Given the description of an element on the screen output the (x, y) to click on. 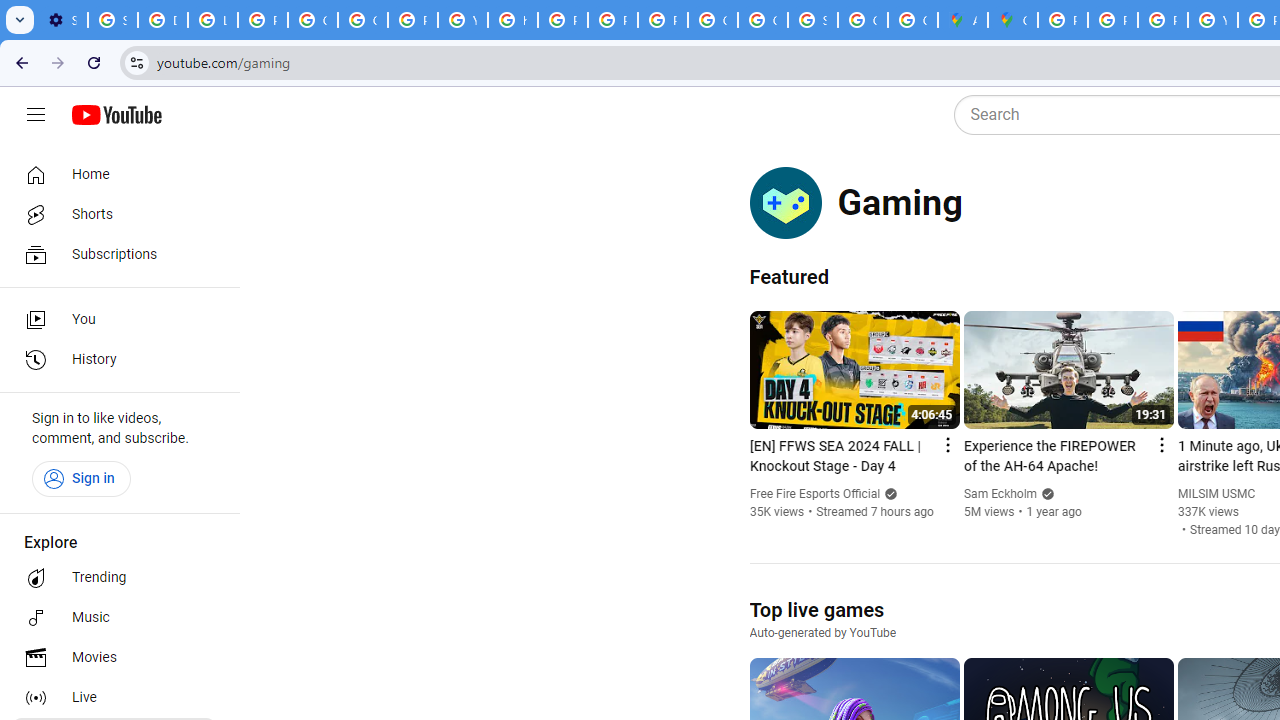
Music (113, 617)
Guide (35, 115)
Settings - On startup (62, 20)
YouTube Home (116, 115)
Movies (113, 657)
Sign in - Google Accounts (113, 20)
Subscriptions (113, 254)
Privacy Help Center - Policies Help (562, 20)
Top live games Auto-generated by YouTube (822, 619)
History (113, 359)
